Given the description of an element on the screen output the (x, y) to click on. 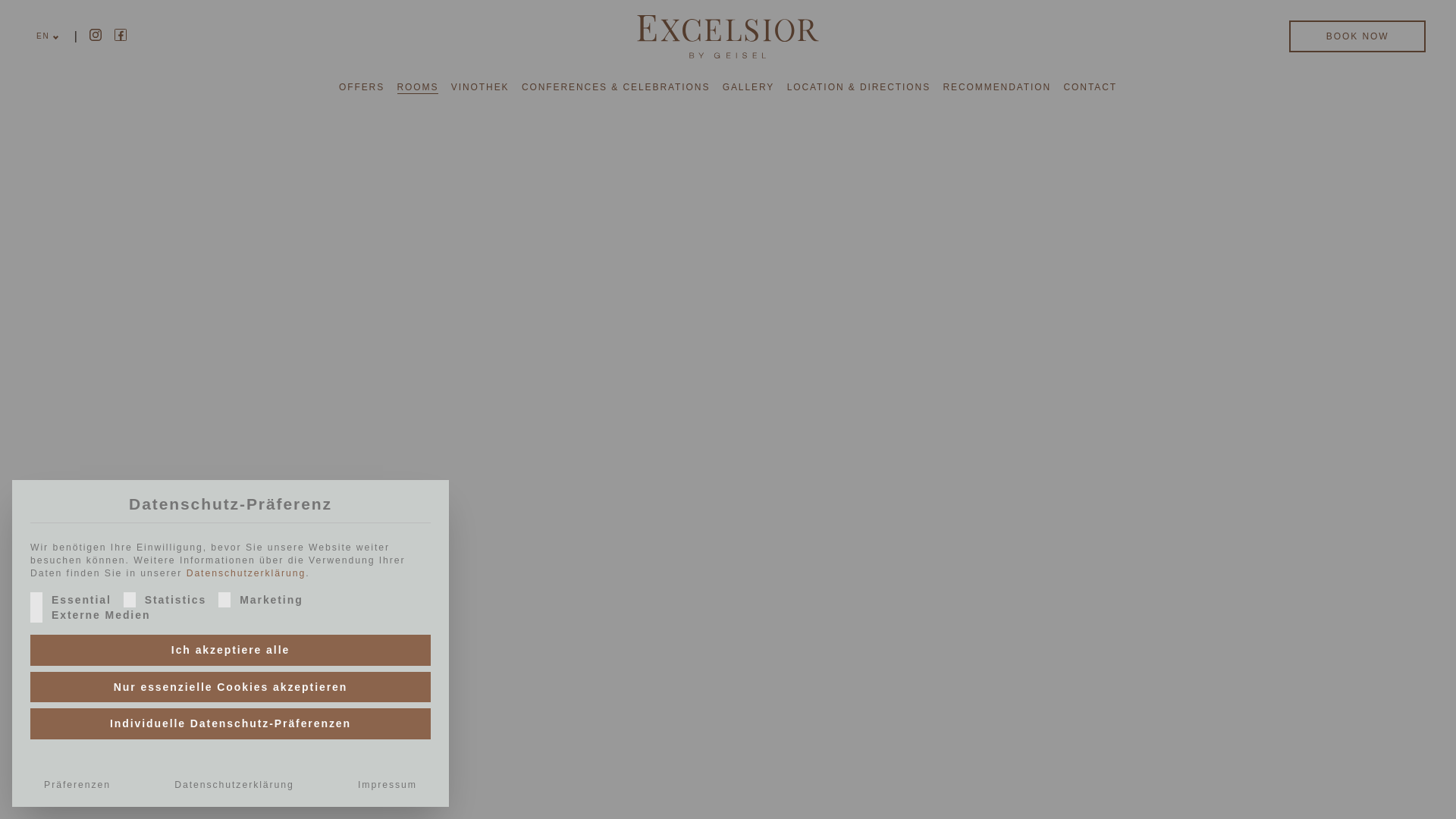
BOOK NOW (1356, 36)
ROOMS (418, 86)
Instagram (94, 34)
OFFERS (361, 86)
Facebook (120, 34)
VINOTHEK (480, 86)
GALLERY (748, 86)
RECOMMENDATION (996, 86)
